Given the description of an element on the screen output the (x, y) to click on. 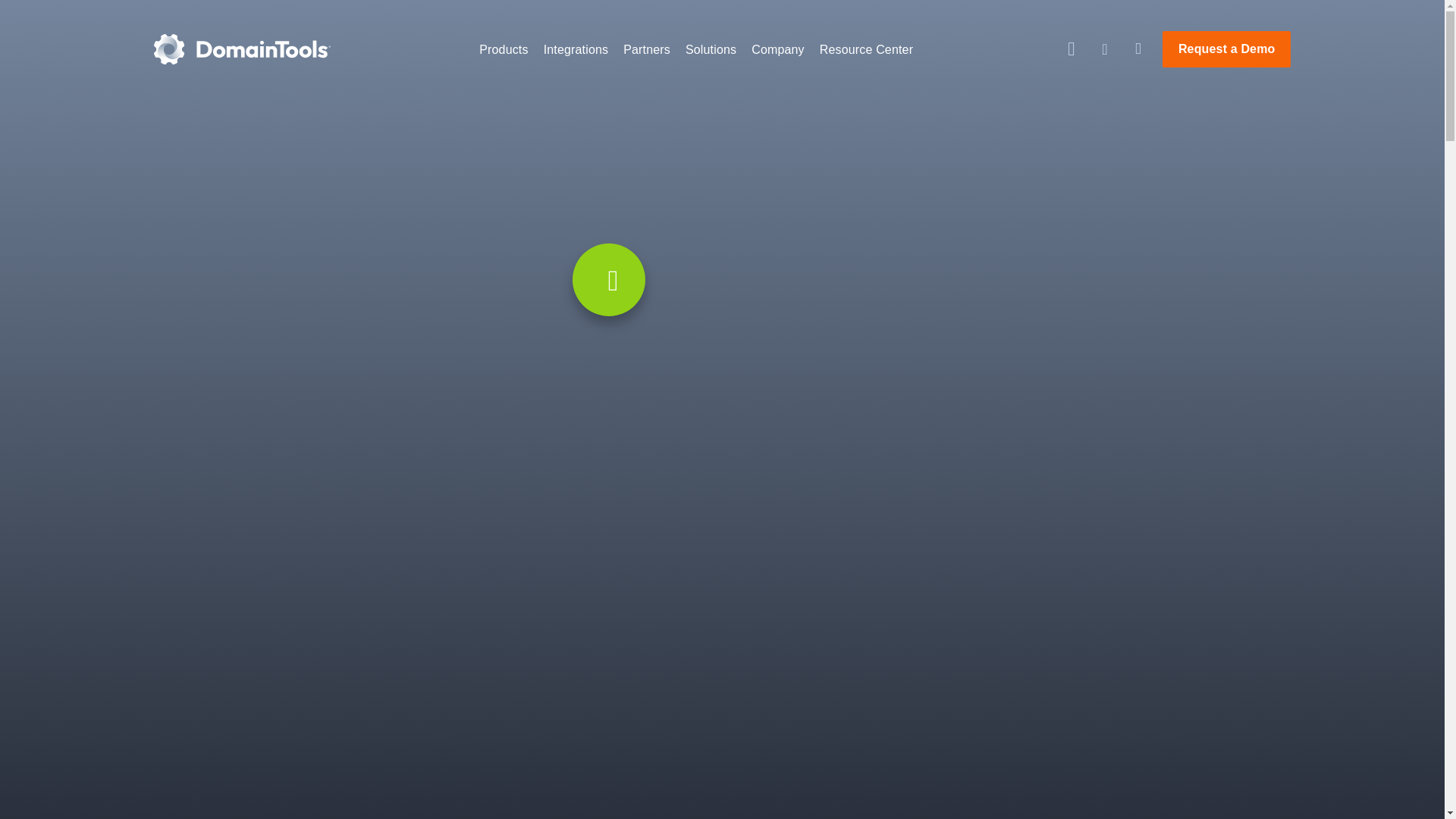
Company (778, 49)
Products (503, 49)
Integrations (576, 49)
Partners (647, 49)
Solutions (710, 49)
